Given the description of an element on the screen output the (x, y) to click on. 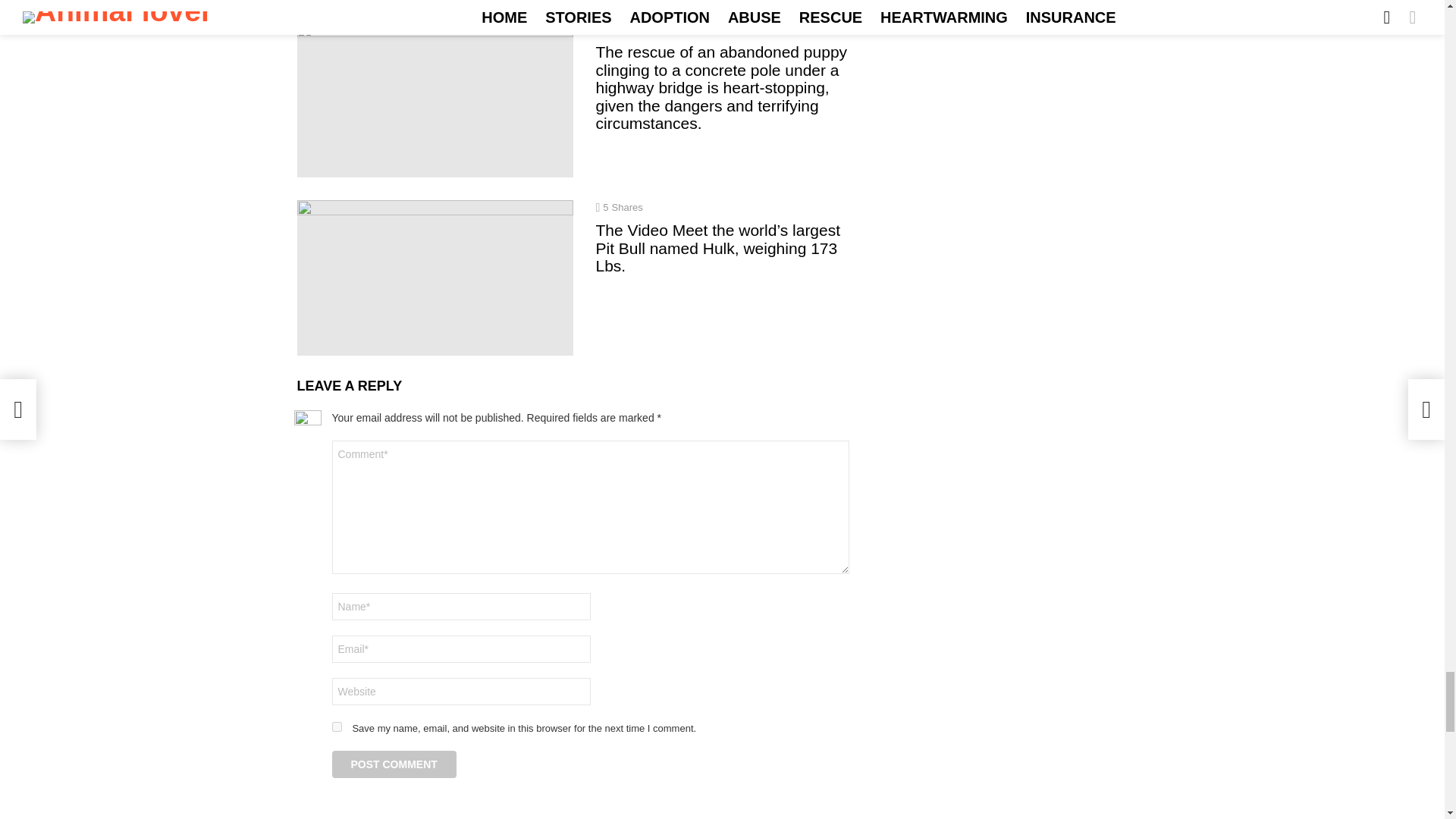
yes (336, 726)
Post Comment (394, 764)
